Given the description of an element on the screen output the (x, y) to click on. 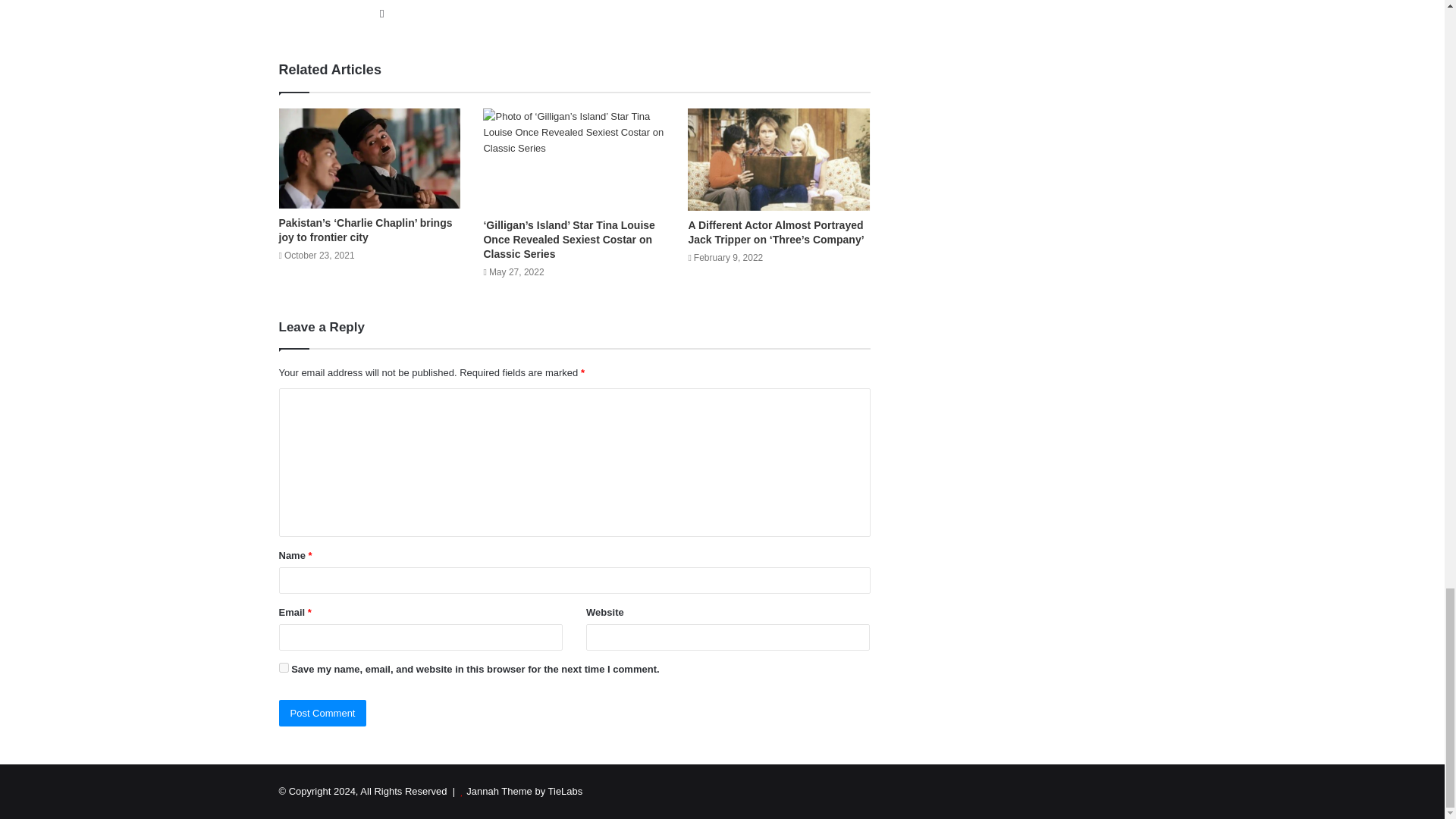
Post Comment (322, 713)
yes (283, 667)
Website (381, 13)
Post Comment (322, 713)
